Given the description of an element on the screen output the (x, y) to click on. 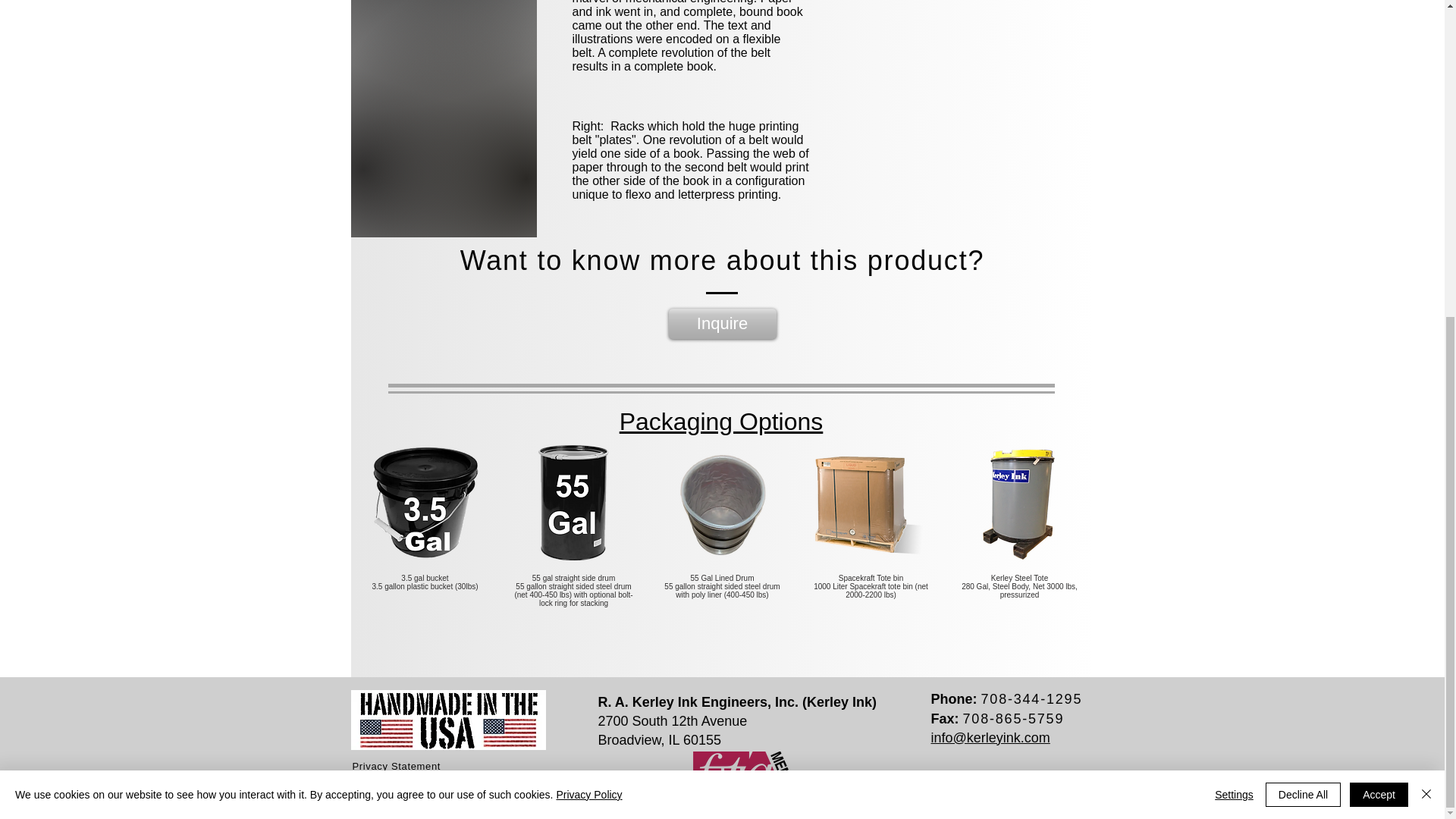
Privacy Statement (396, 766)
Accept (1378, 283)
Decline All (1302, 283)
Privacy Policy (588, 283)
Handmade in USA medium.jpg (447, 720)
